Given the description of an element on the screen output the (x, y) to click on. 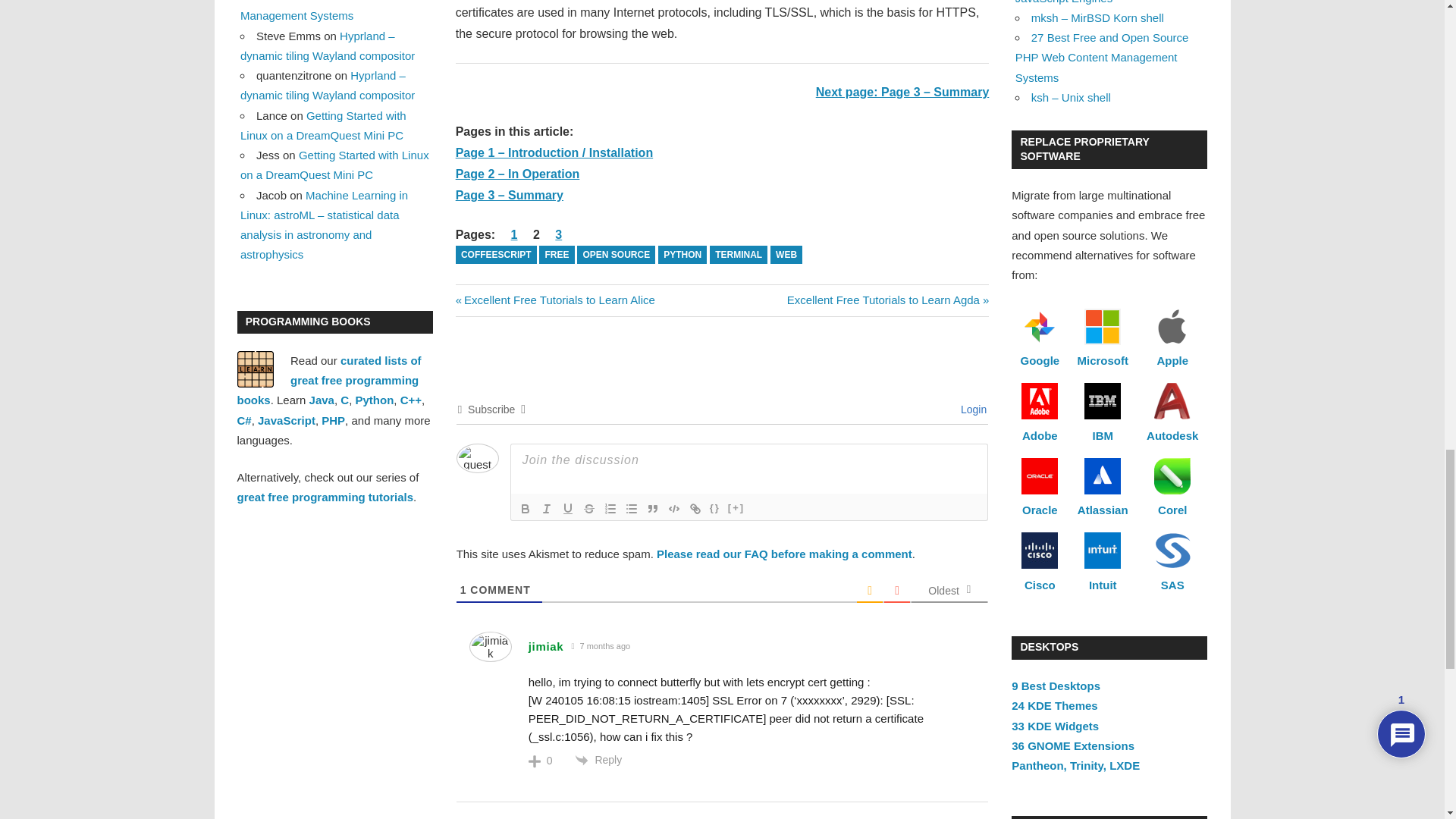
Strike (588, 508)
FREE (555, 254)
Login (555, 299)
TERMINAL (971, 409)
Ordered List (738, 254)
COFFEESCRIPT (610, 508)
Code Block (496, 254)
Underline (673, 508)
OPEN SOURCE (567, 508)
